Given the description of an element on the screen output the (x, y) to click on. 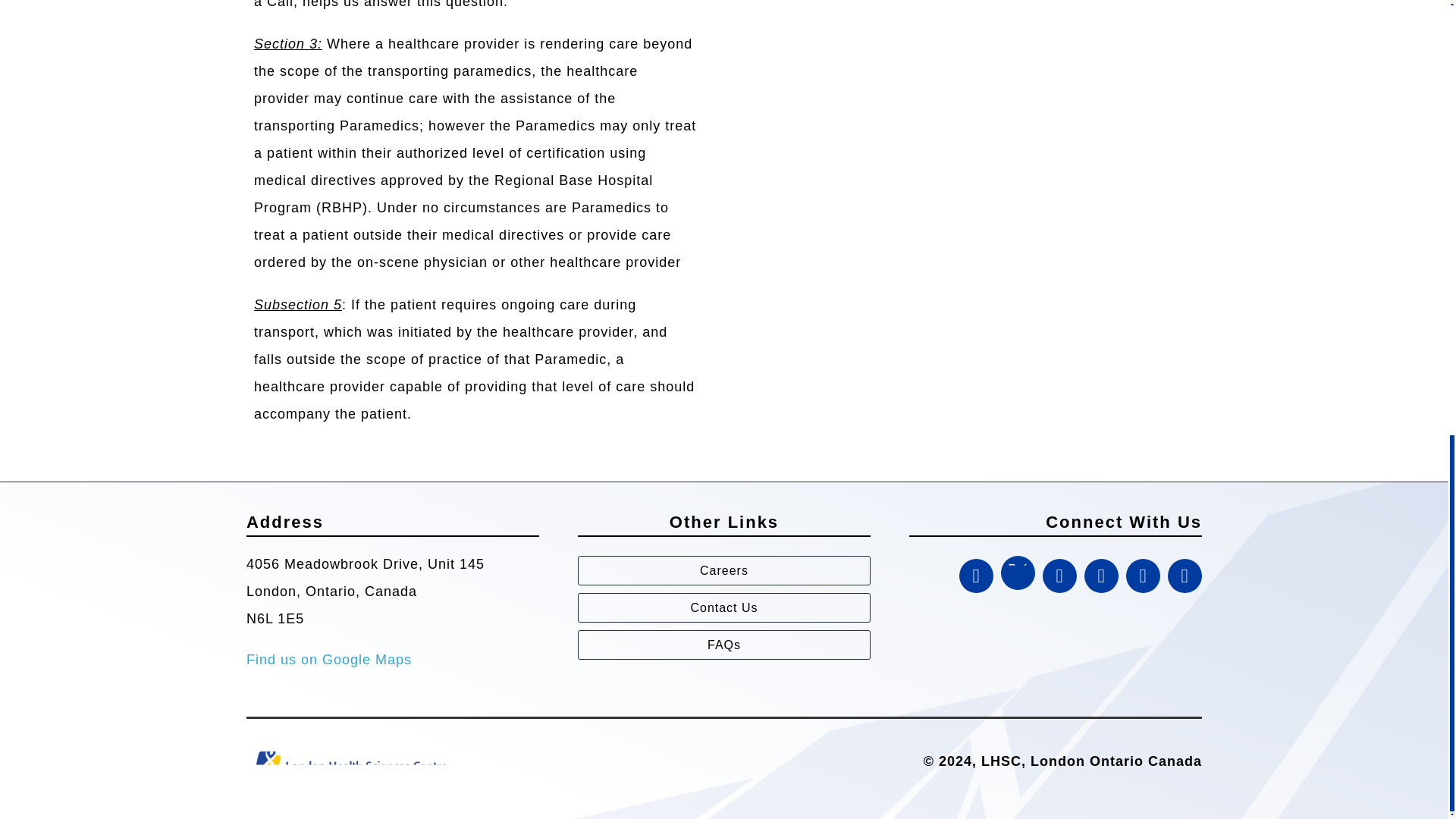
SWORBHP Podcast (975, 575)
Instagram (1059, 575)
Facebook (1101, 575)
Email (1142, 575)
Twitter (1018, 572)
Phone (1184, 575)
